Given the description of an element on the screen output the (x, y) to click on. 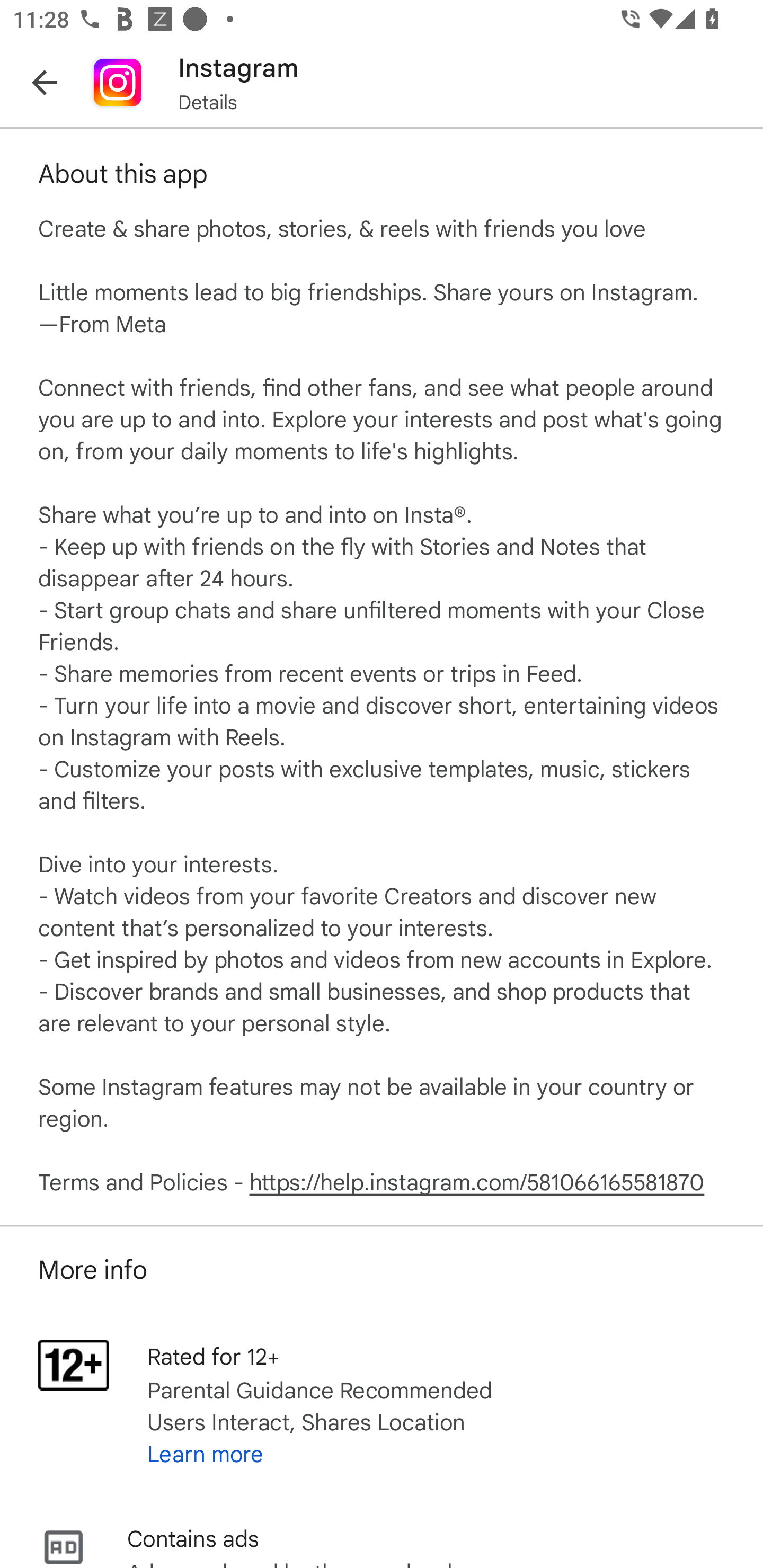
Navigate up (44, 82)
